Given the description of an element on the screen output the (x, y) to click on. 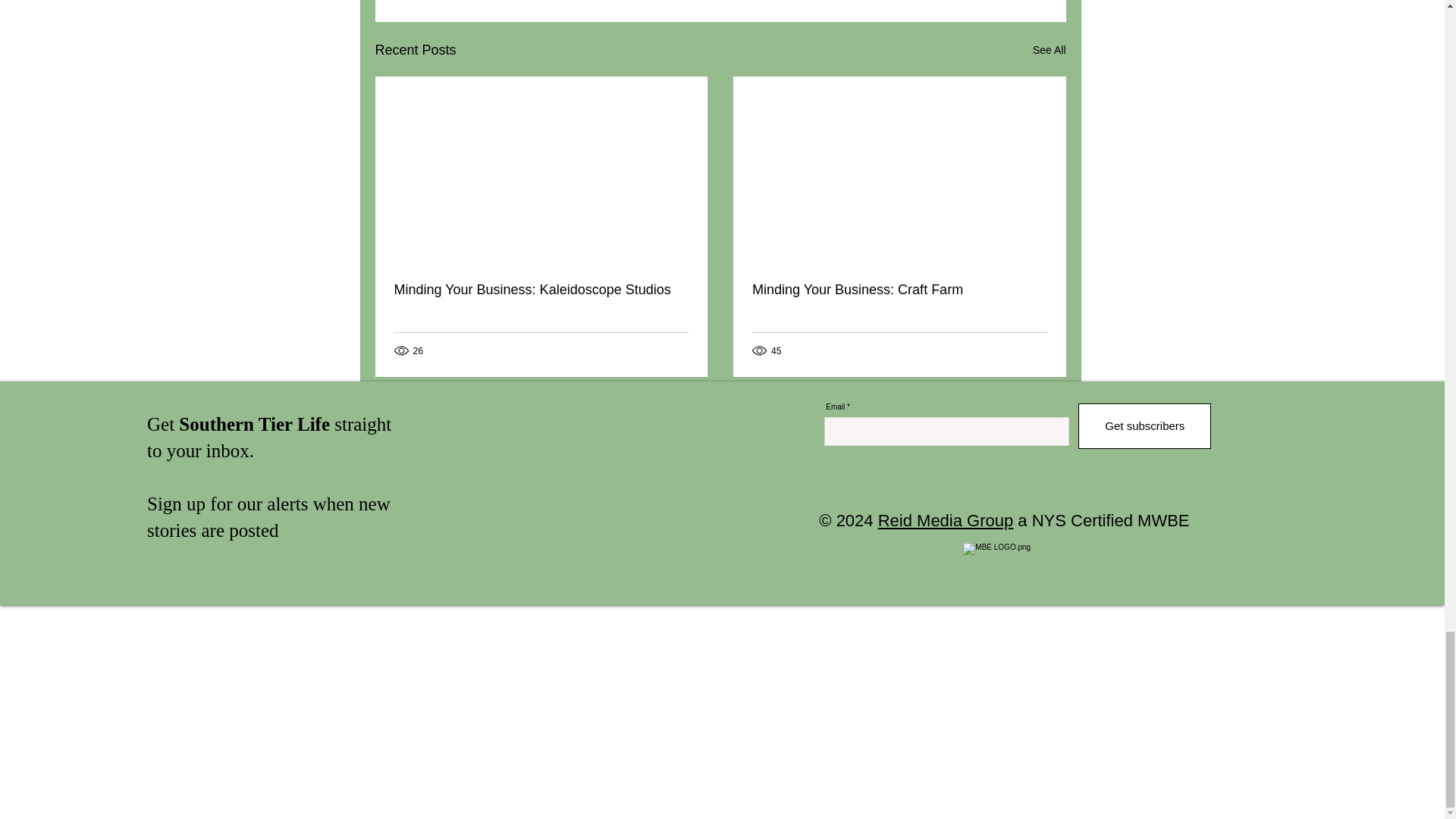
Minding Your Business: Kaleidoscope Studios (541, 289)
Get subscribers (1144, 425)
Minding Your Business: Craft Farm (899, 289)
See All (1048, 50)
Reid Media Group (945, 520)
